Given the description of an element on the screen output the (x, y) to click on. 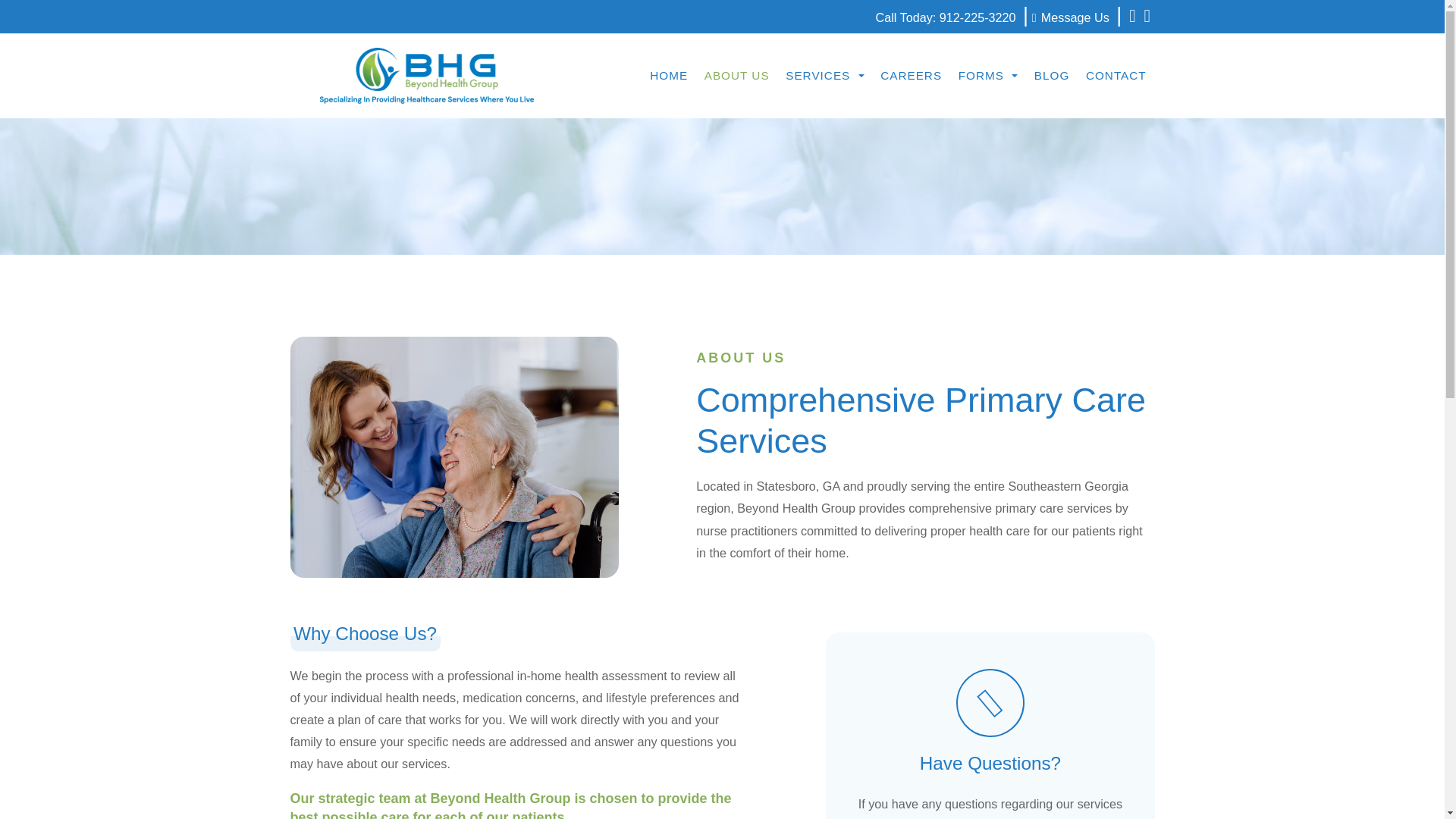
CONTACT (1115, 75)
ABOUT US (736, 75)
Forms (988, 75)
Blog (1051, 75)
Home (668, 75)
Contact (1115, 75)
FORMS (988, 75)
Careers (911, 75)
BLOG (1051, 75)
CAREERS (911, 75)
Message Us (1070, 17)
HOME (668, 75)
SERVICES (824, 75)
About Us (736, 75)
Services (824, 75)
